Given the description of an element on the screen output the (x, y) to click on. 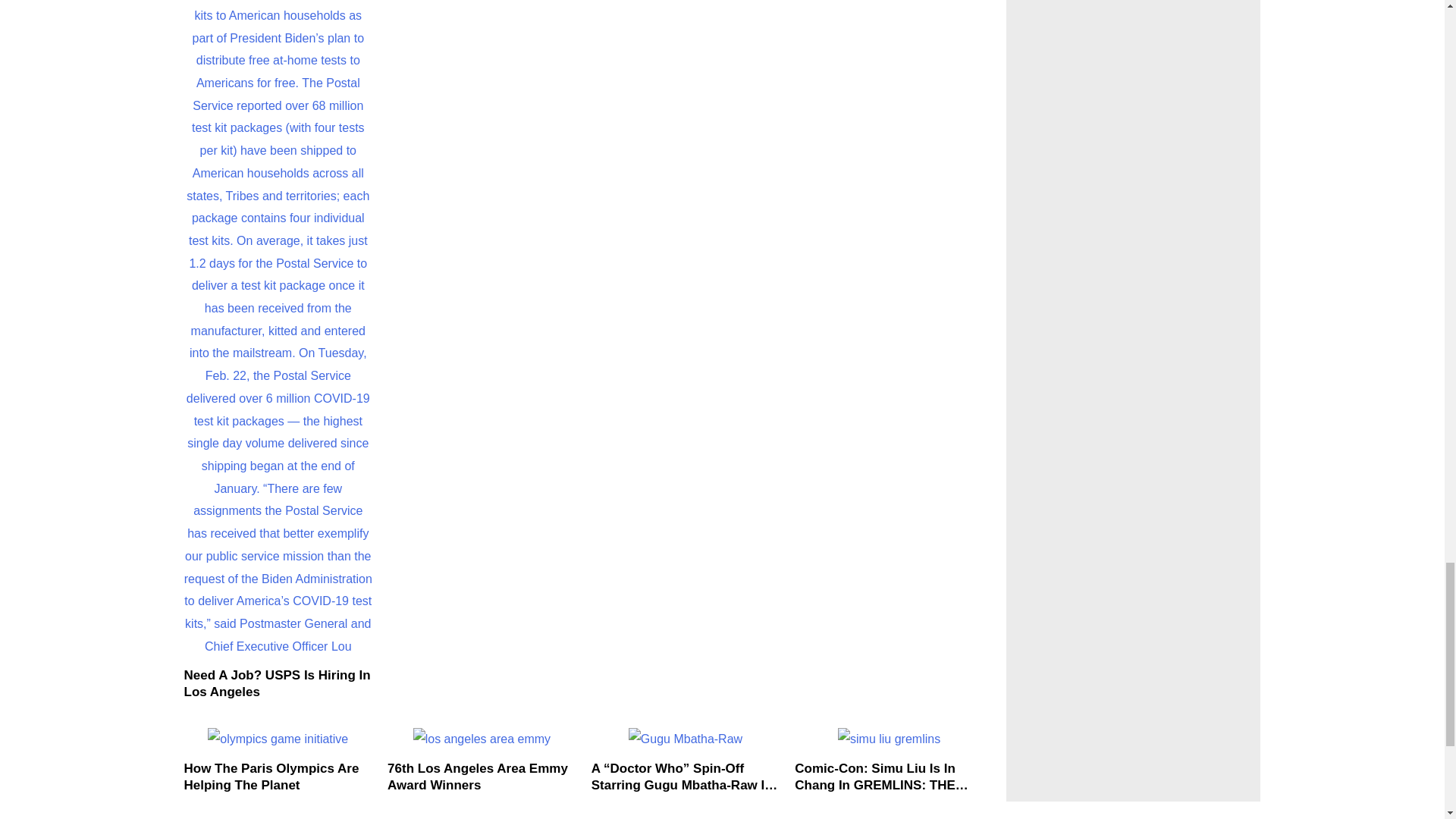
simu liu gremlins (889, 739)
Gugu Mbatha-Raw (685, 739)
los angeles area emmy (481, 739)
olympics game initiative (277, 739)
